Given the description of an element on the screen output the (x, y) to click on. 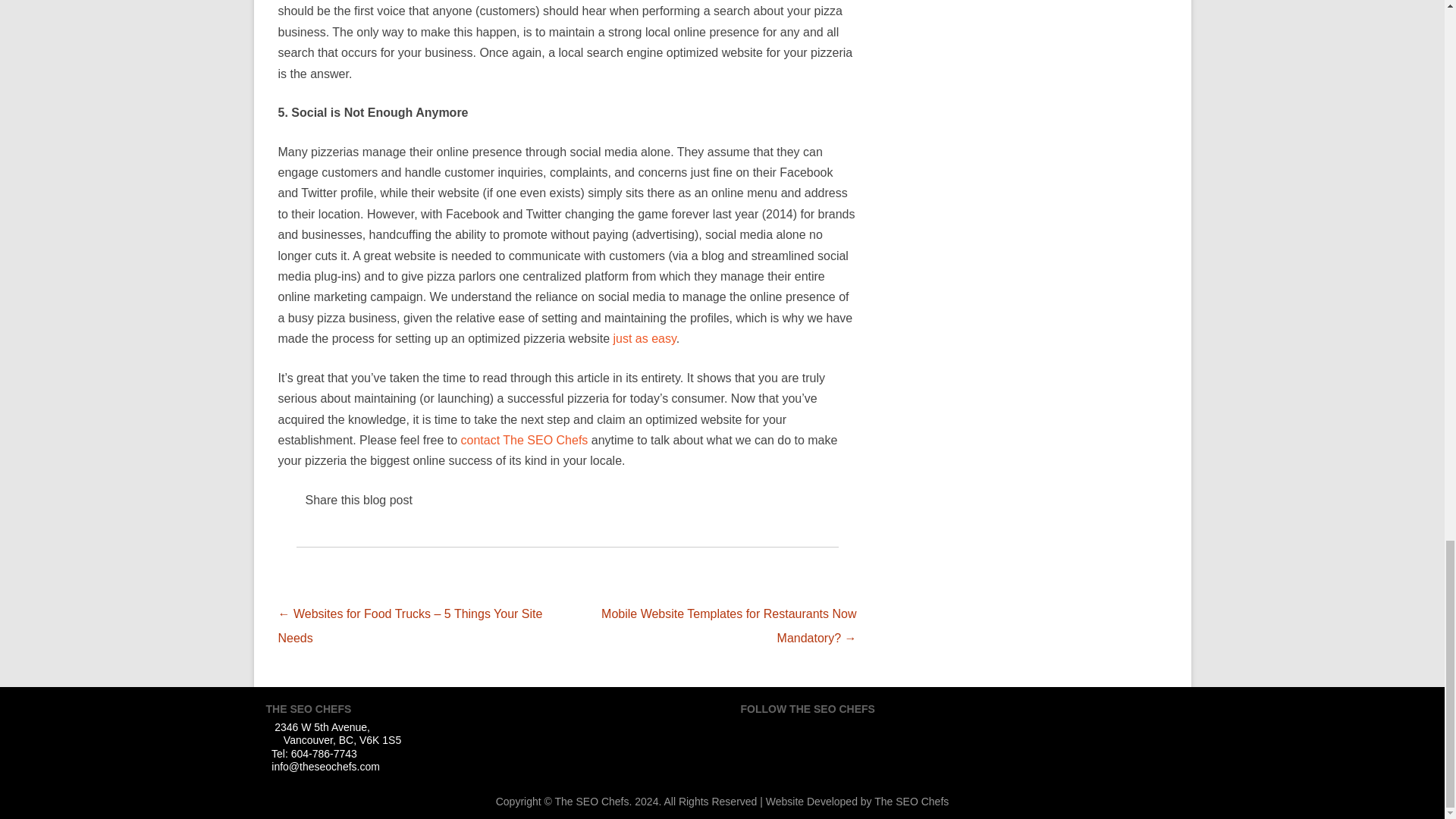
Website Developed by The SEO Chefs (857, 801)
just as easy (644, 338)
contact The SEO Chefs (524, 440)
